Given the description of an element on the screen output the (x, y) to click on. 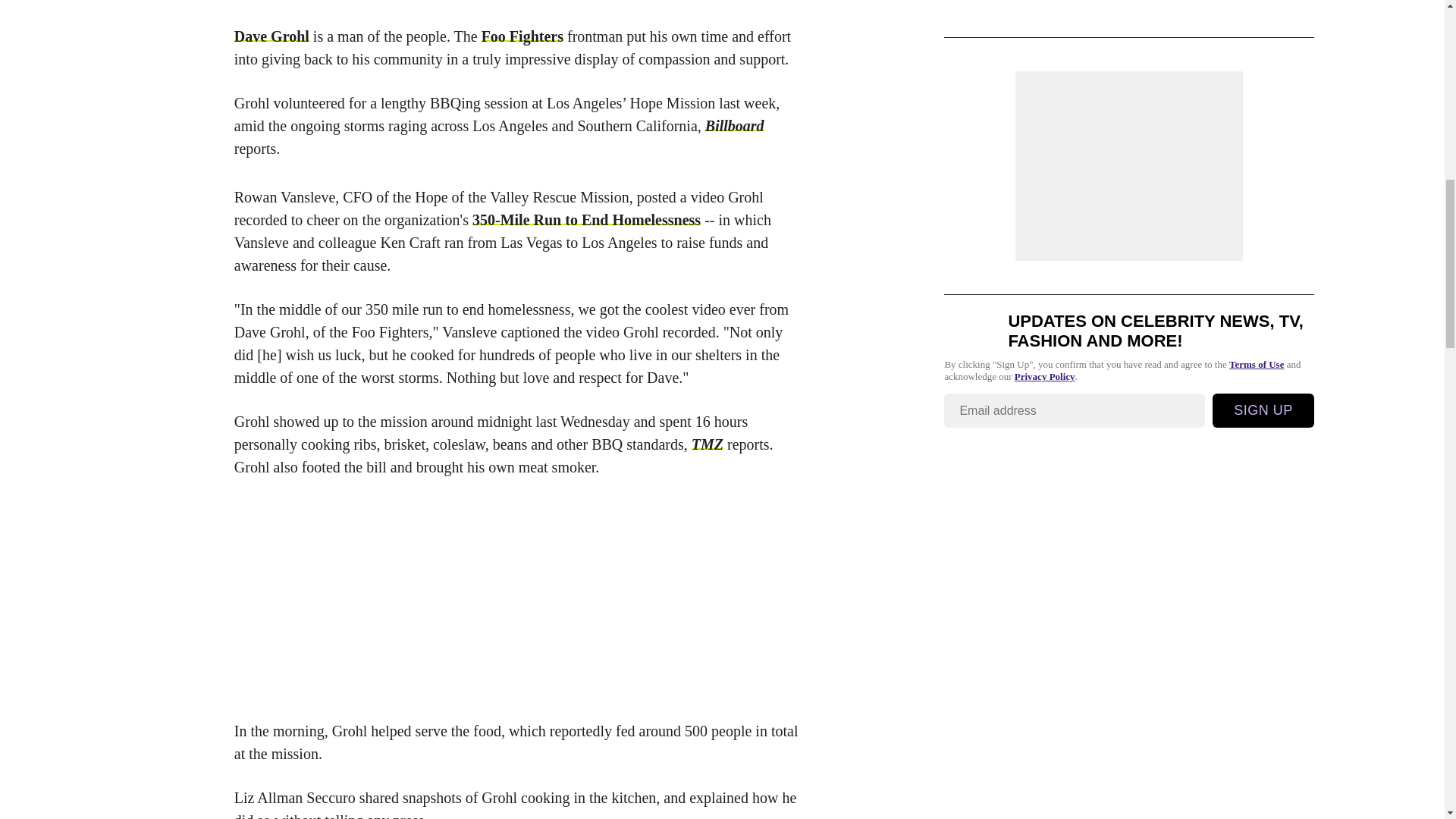
Foo Fighters (522, 36)
TMZ (707, 443)
Dave Grohl (271, 36)
Billboard (734, 125)
350-Mile Run to End Homelessness (585, 219)
